Given the description of an element on the screen output the (x, y) to click on. 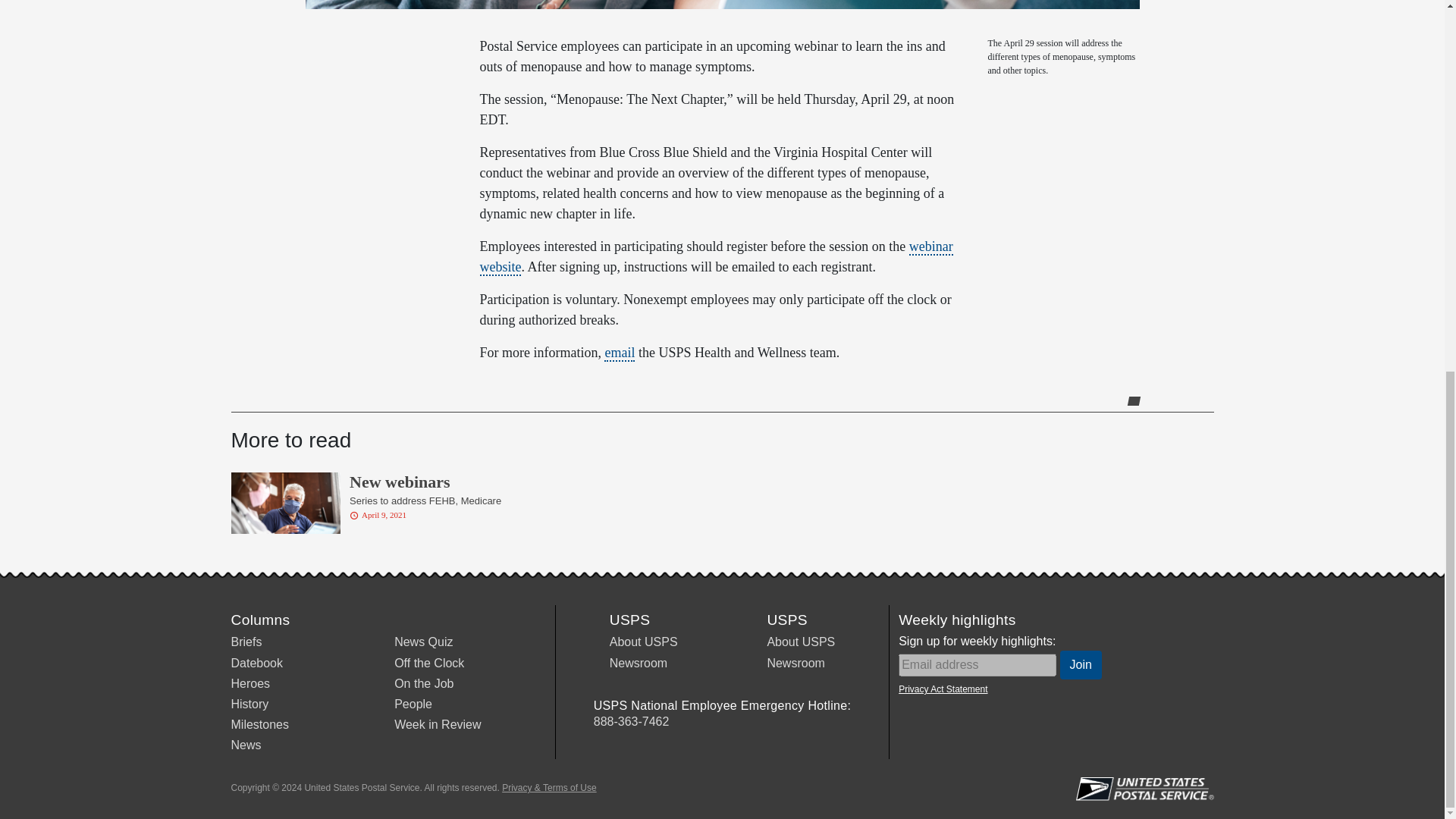
On the Job (423, 683)
email (619, 352)
webinar website (715, 257)
People (413, 703)
Milestones (259, 724)
Off the Clock (429, 662)
About USPS (644, 641)
Datebook (256, 662)
History (248, 703)
Newsroom (638, 662)
About USPS (800, 641)
Week in Review (437, 724)
Heroes (249, 683)
News Quiz (423, 641)
Join (1080, 664)
